Given the description of an element on the screen output the (x, y) to click on. 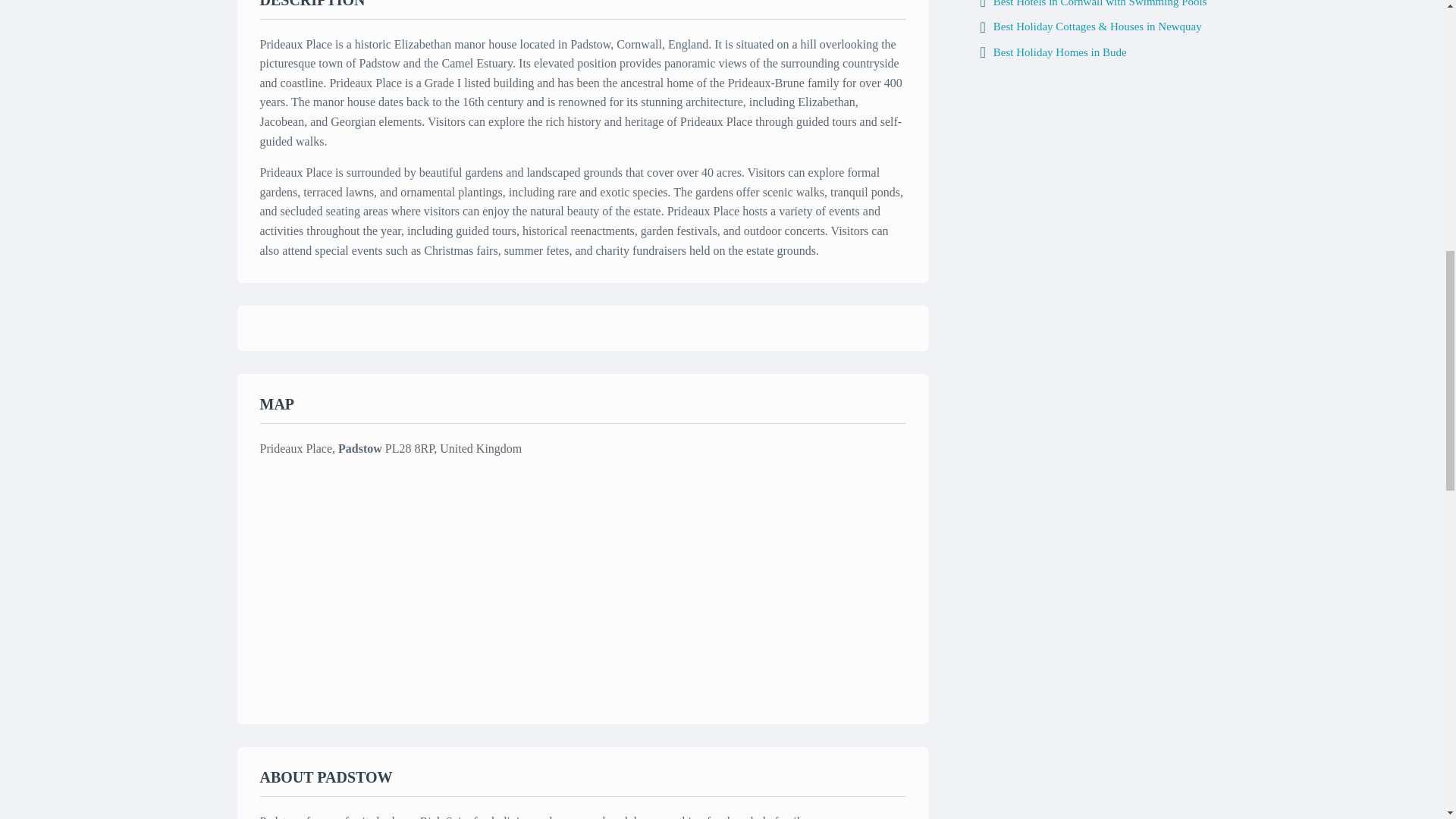
Padstow (359, 448)
